Given the description of an element on the screen output the (x, y) to click on. 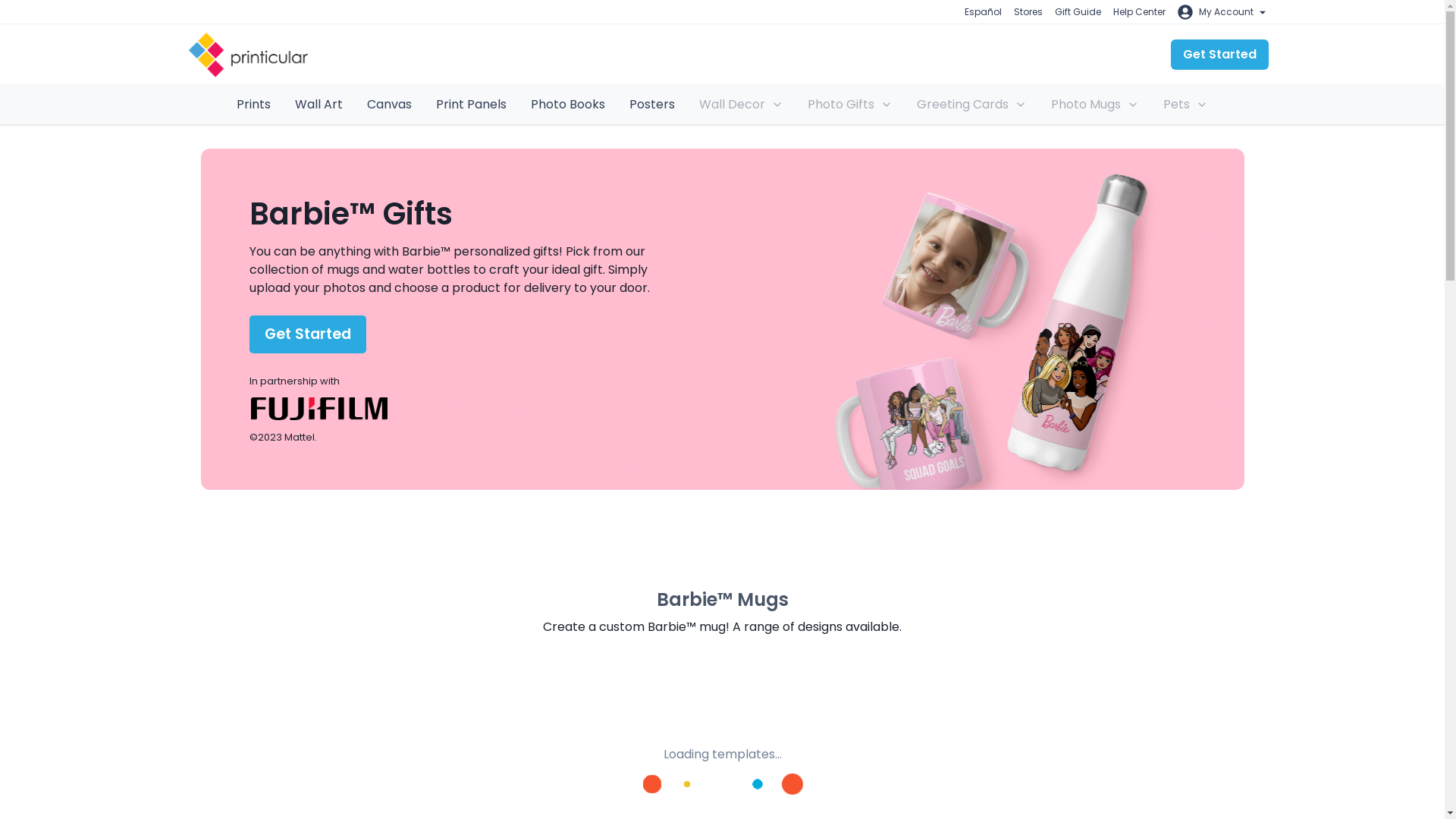
Get Started (1219, 54)
Wall Art (318, 104)
My Account (1222, 11)
Posters (652, 104)
Printicular Logo (248, 54)
Stores (1027, 11)
Prints (253, 104)
Photo Gifts (849, 104)
Wall Decor (740, 104)
Photo Books (567, 104)
